Given the description of an element on the screen output the (x, y) to click on. 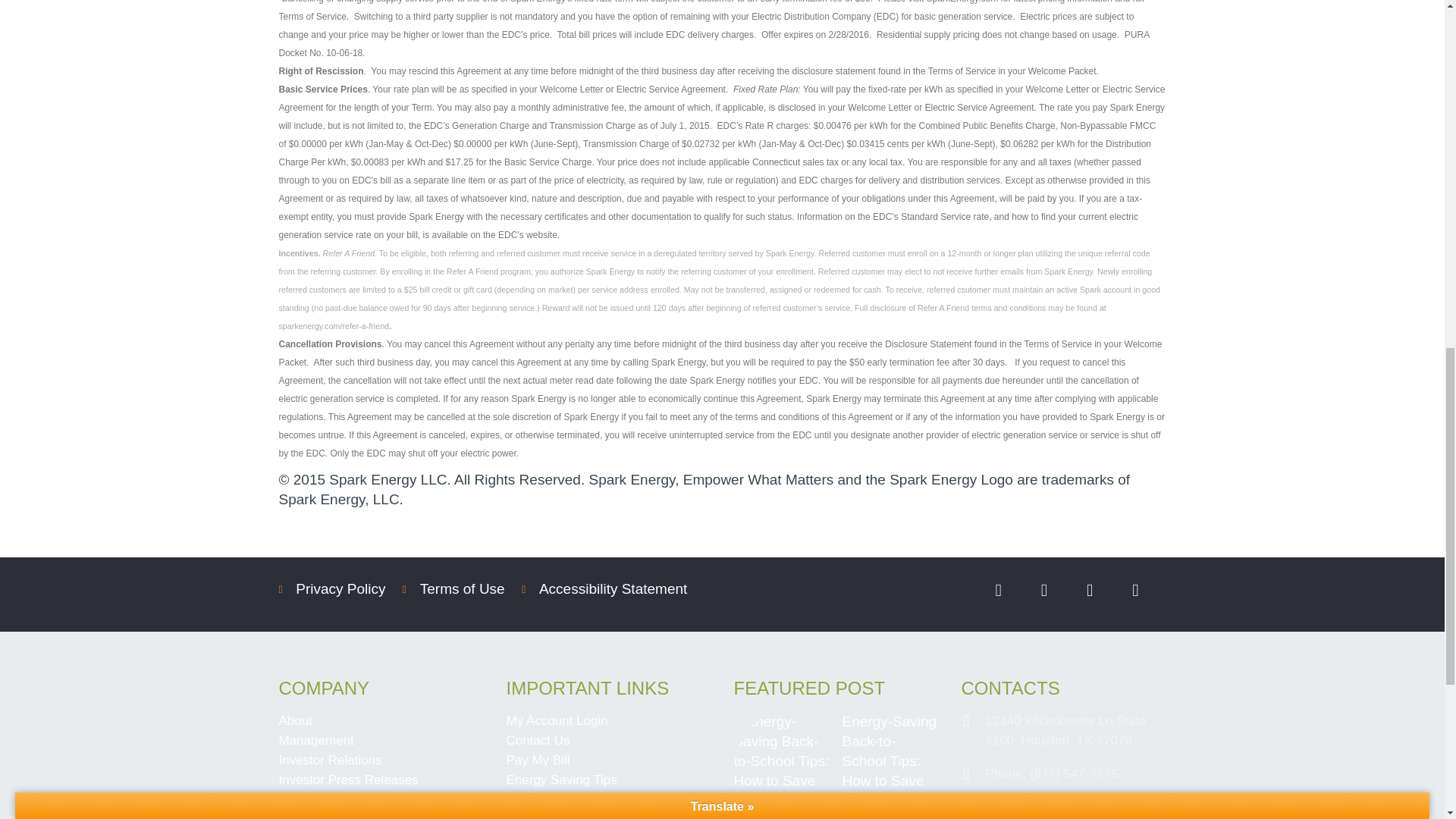
Privacy Policy (340, 588)
Terms of Use (462, 588)
Accessibility Statement (612, 588)
